Given the description of an element on the screen output the (x, y) to click on. 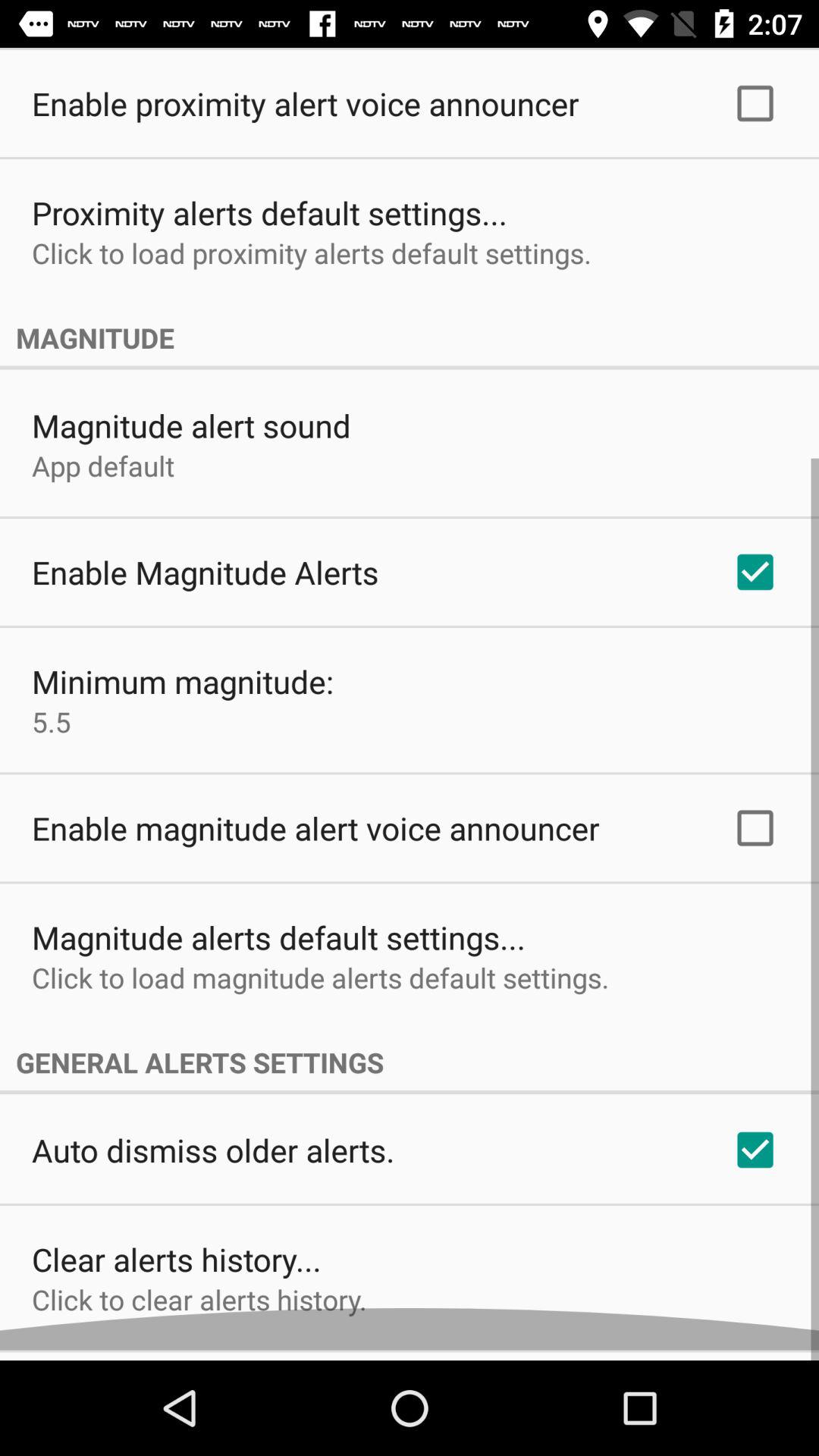
swipe to the 5.5 (51, 731)
